Given the description of an element on the screen output the (x, y) to click on. 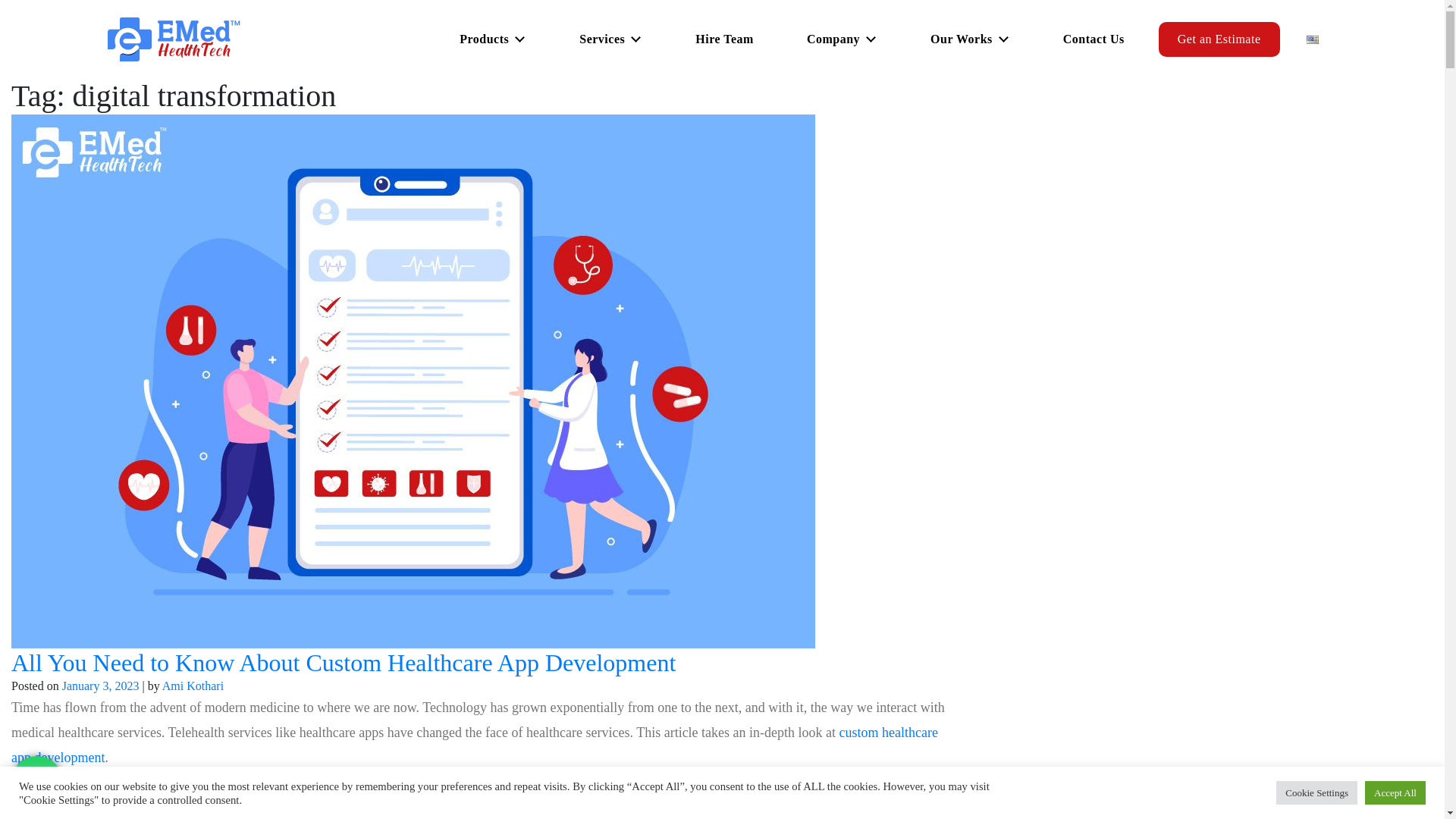
Services (610, 38)
January 3, 2023 (100, 685)
Contact Us (1092, 38)
Products (492, 38)
Get an Estimate (1218, 38)
Company (841, 38)
All You Need to Know About Custom Healthcare App Development (343, 662)
Products (492, 38)
Hire Team (725, 38)
Services (610, 38)
Our Works (970, 38)
